Given the description of an element on the screen output the (x, y) to click on. 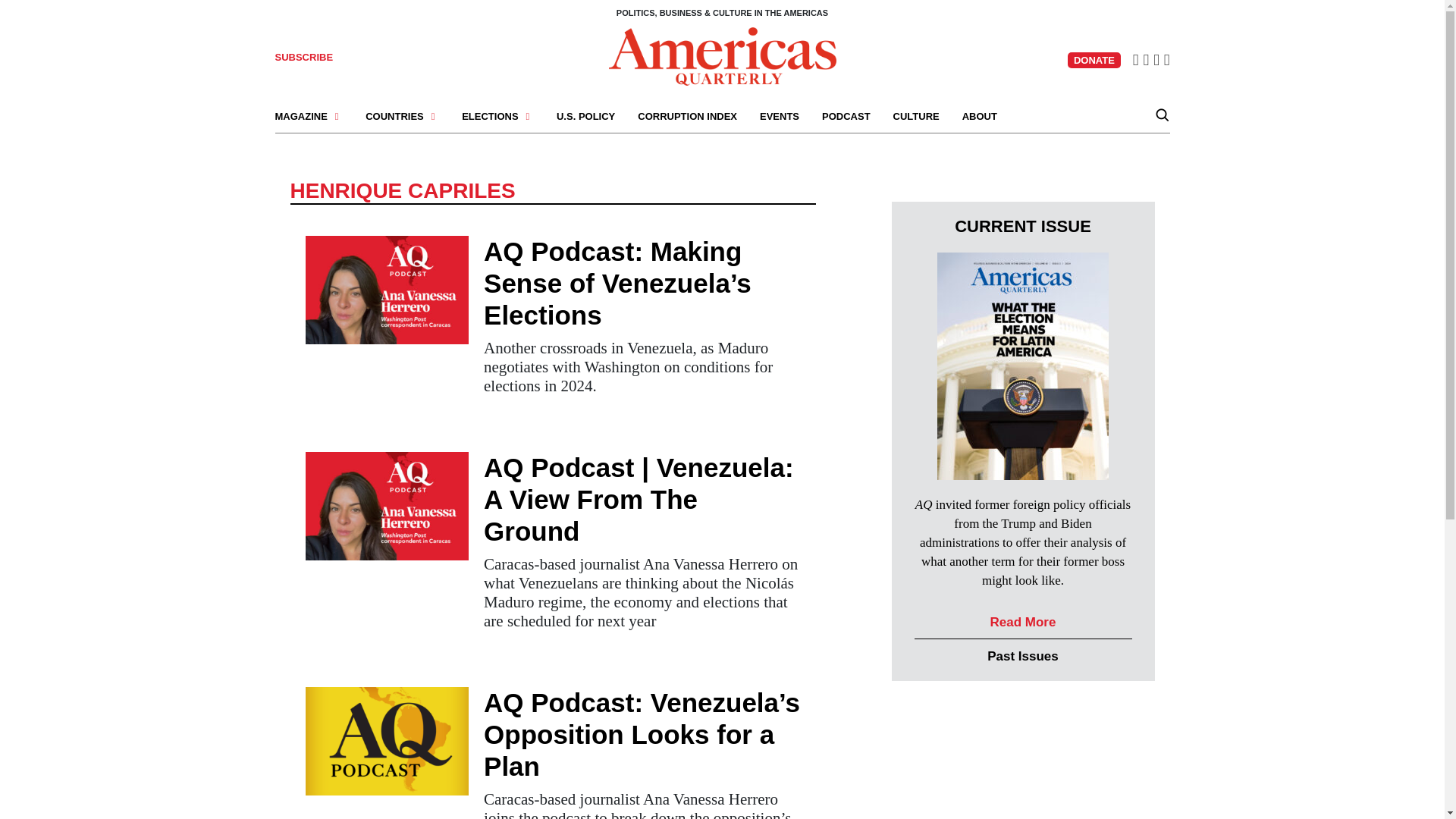
Americas Quarterly (721, 56)
SUBSCRIBE (304, 57)
Americas Quarterly (721, 54)
DONATE (1094, 59)
